Given the description of an element on the screen output the (x, y) to click on. 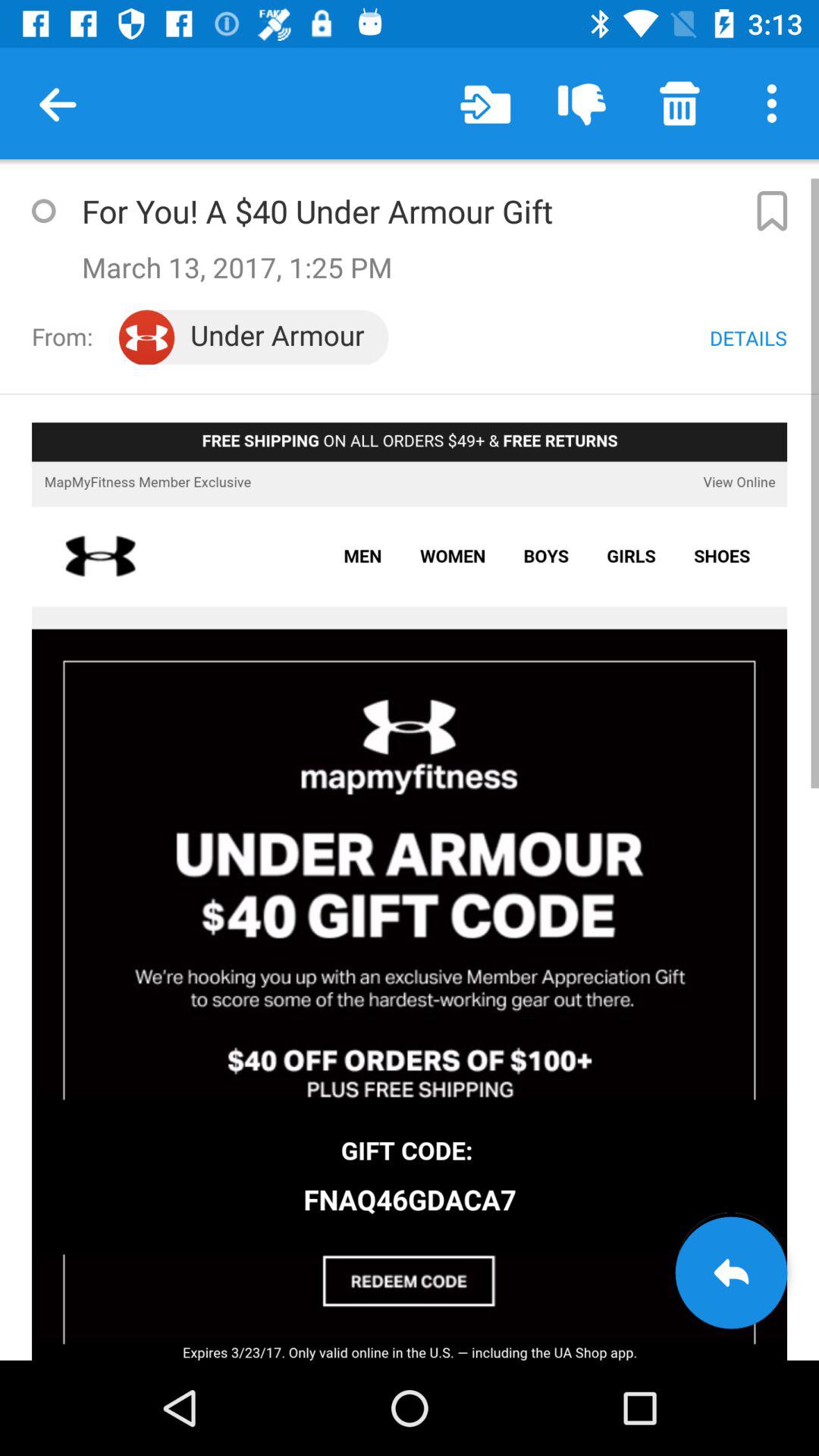
goto back (731, 1272)
